Given the description of an element on the screen output the (x, y) to click on. 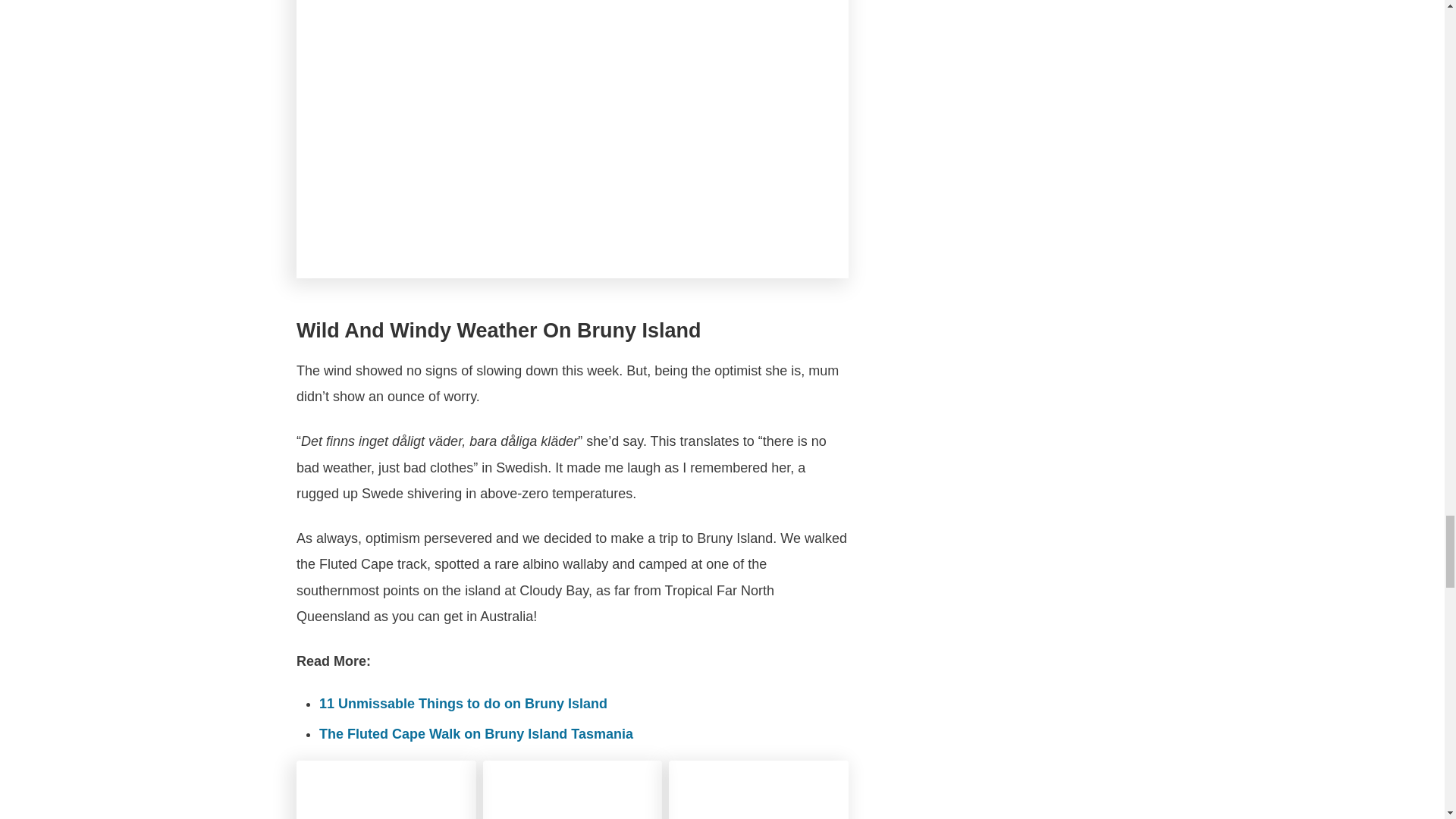
Van Journal Week 5: Tassie Tour With Mum (572, 789)
Van Journal Week 5: Tassie Tour With Mum (386, 789)
